Given the description of an element on the screen output the (x, y) to click on. 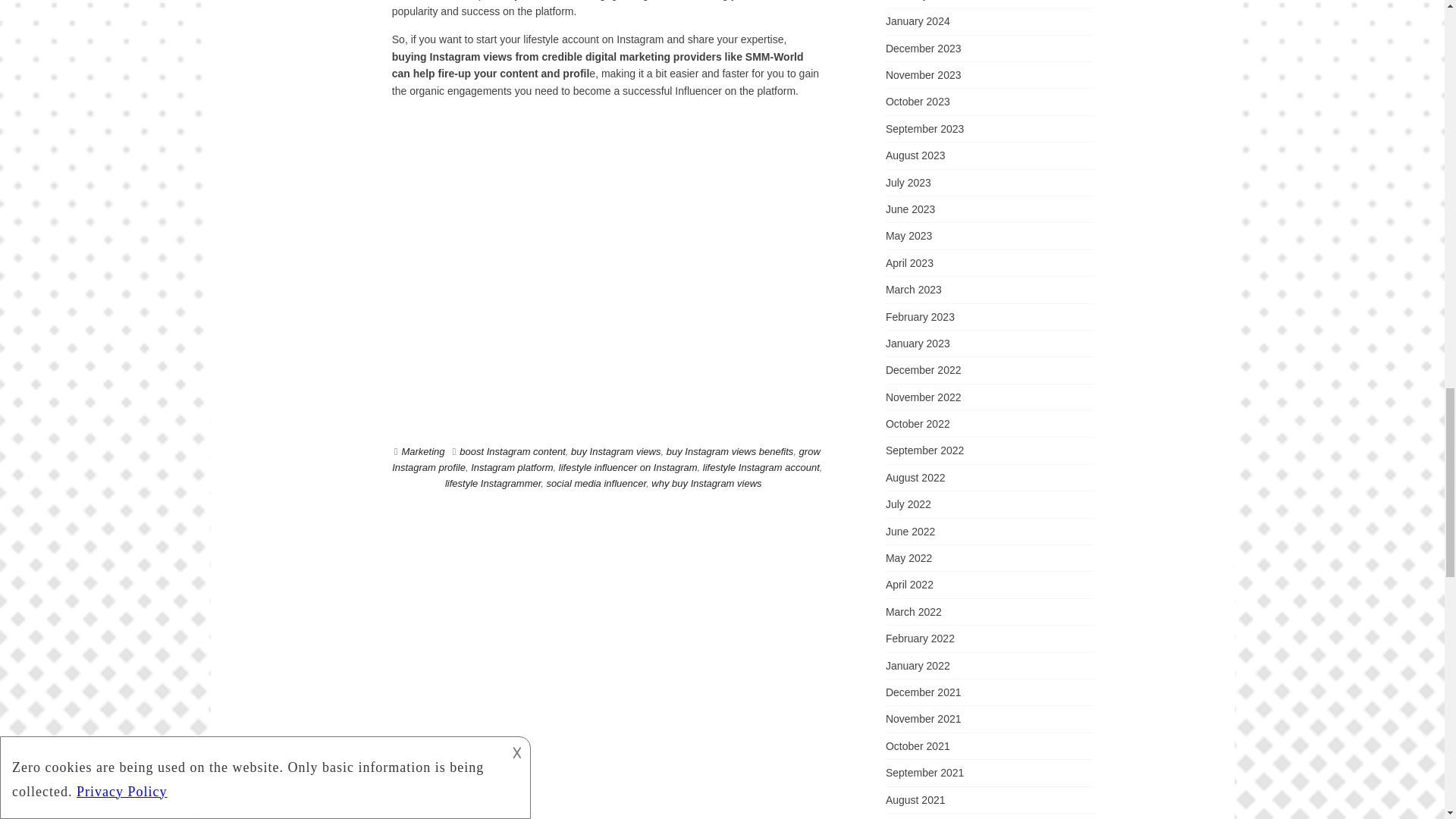
Marketing (422, 451)
lifestyle Instagrammer (492, 482)
social media influencer (596, 482)
grow Instagram profile (606, 459)
How To Become An Influencer (606, 262)
lifestyle Instagram account (761, 467)
why buy Instagram views (705, 482)
boost Instagram content (512, 451)
buy Instagram views benefits (729, 451)
lifestyle influencer on Instagram (628, 467)
Instagram platform (511, 467)
buy Instagram views (615, 451)
